Given the description of an element on the screen output the (x, y) to click on. 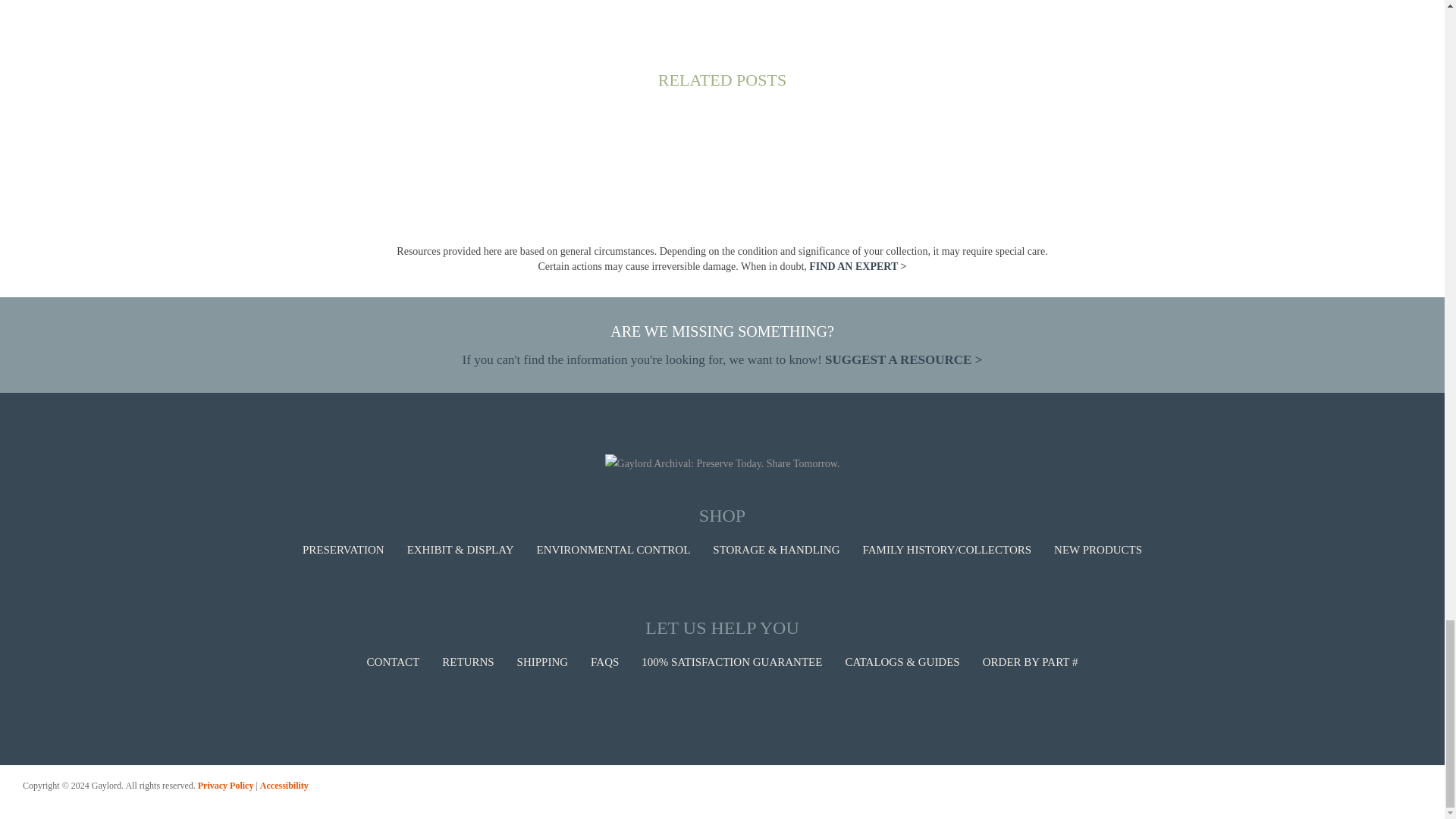
Gaylord Archival: Preserve Today. Share Tomorrow. (722, 464)
